Given the description of an element on the screen output the (x, y) to click on. 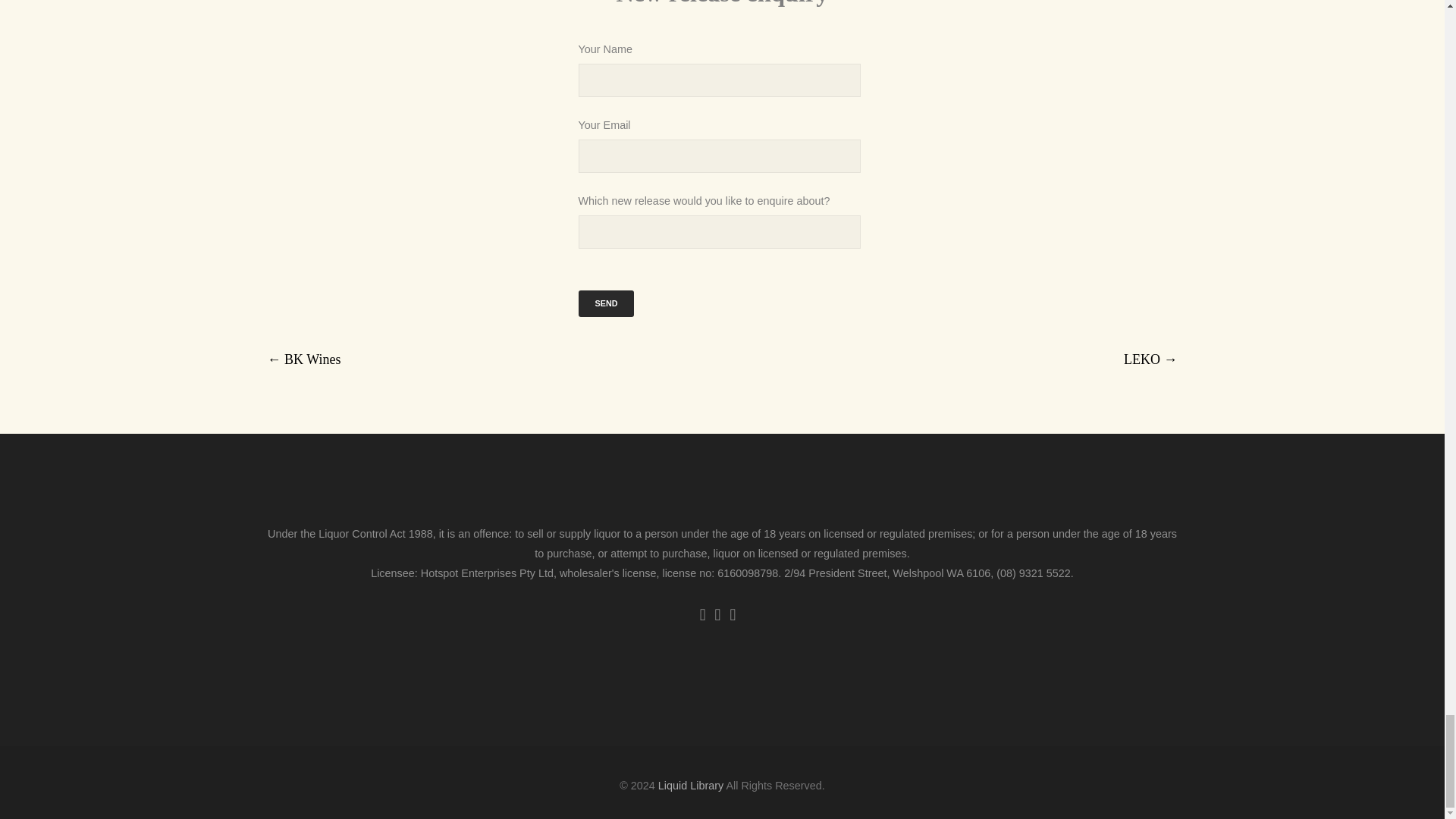
Send (605, 303)
Liquid Library (690, 785)
Send (605, 303)
